Given the description of an element on the screen output the (x, y) to click on. 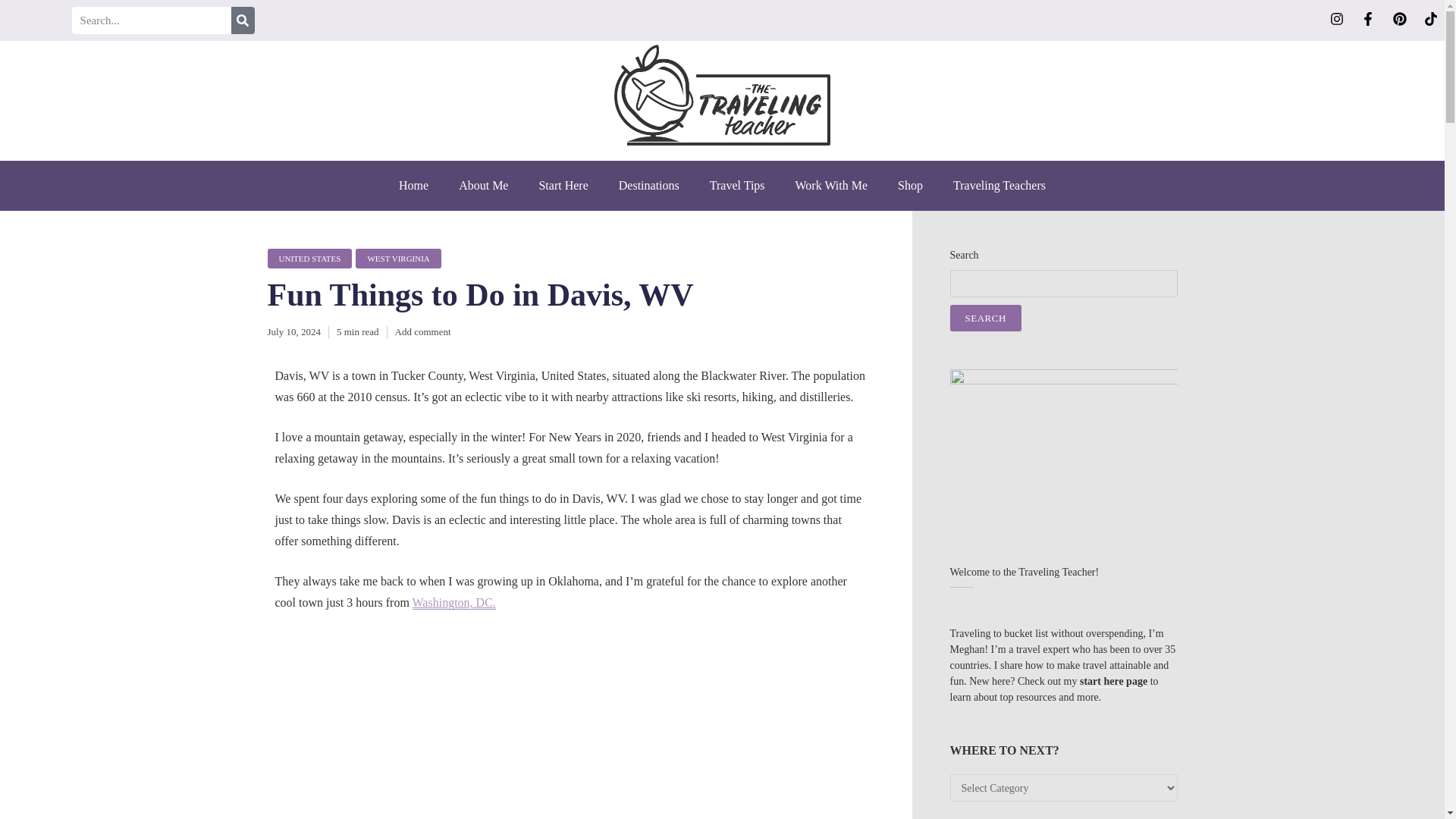
Destinations (649, 185)
Add comment (422, 331)
About Me (483, 185)
Start Here (562, 185)
Home (414, 185)
